Given the description of an element on the screen output the (x, y) to click on. 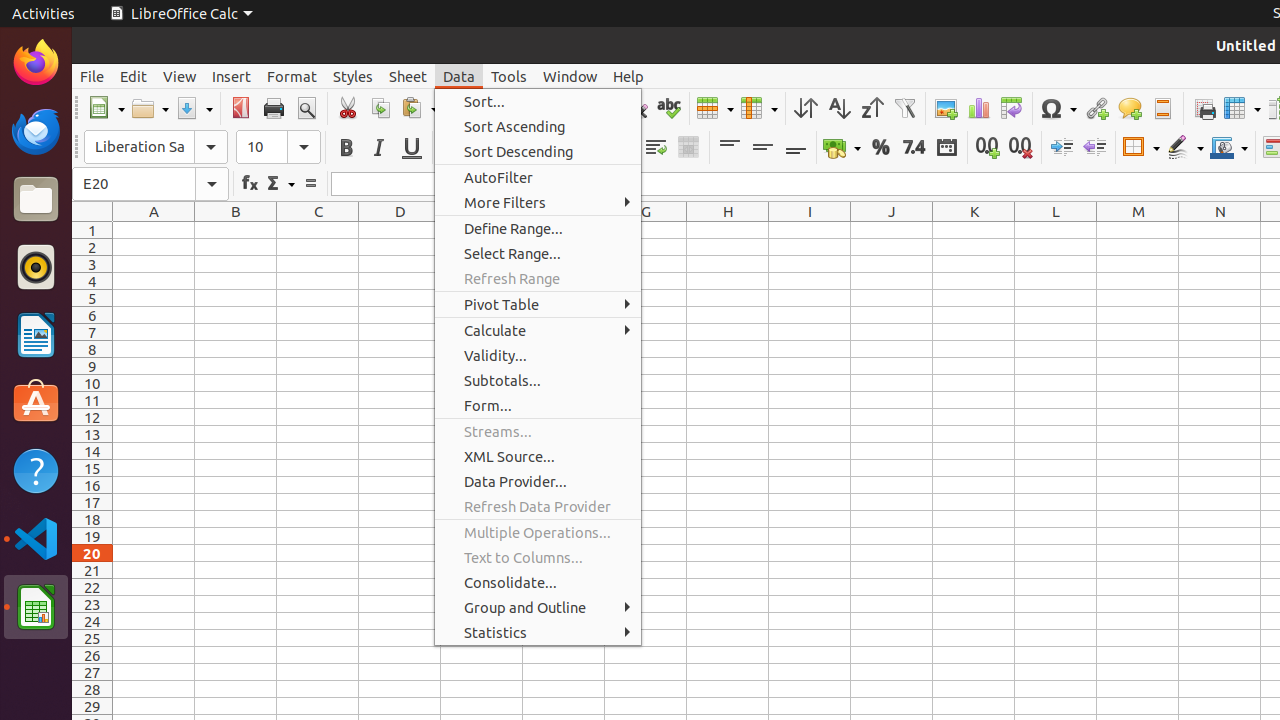
Border Color Element type: push-button (1229, 147)
Styles Element type: menu (353, 76)
Function Wizard Element type: push-button (249, 183)
Formula Element type: push-button (310, 183)
Data Provider... Element type: menu-item (538, 481)
